Given the description of an element on the screen output the (x, y) to click on. 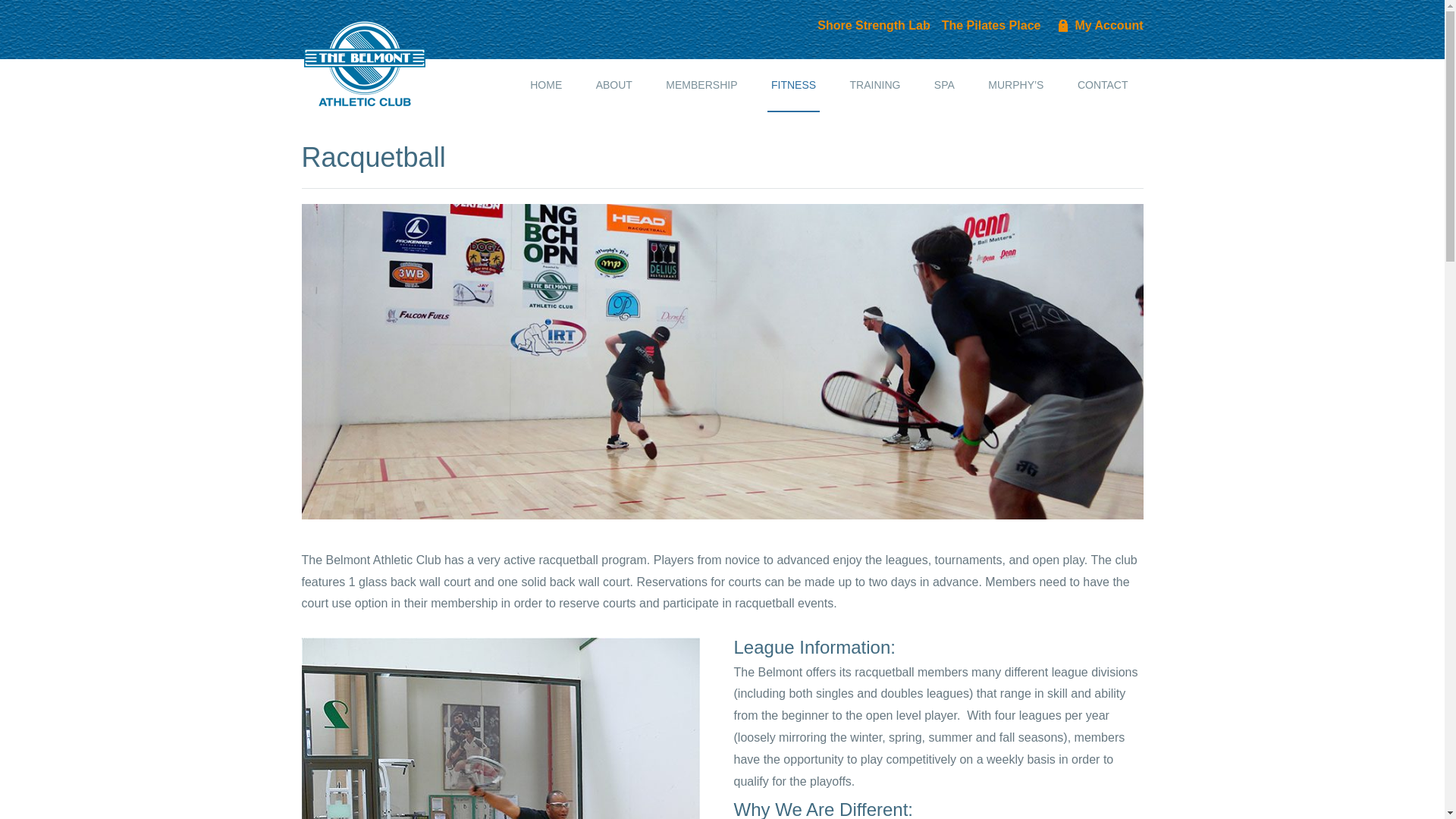
Shore Strength Lab (873, 24)
MEMBERSHIP (701, 85)
My Account (1096, 24)
CONTACT (1103, 85)
FITNESS (793, 85)
The Pilates Place (991, 24)
TRAINING (874, 85)
